Given the description of an element on the screen output the (x, y) to click on. 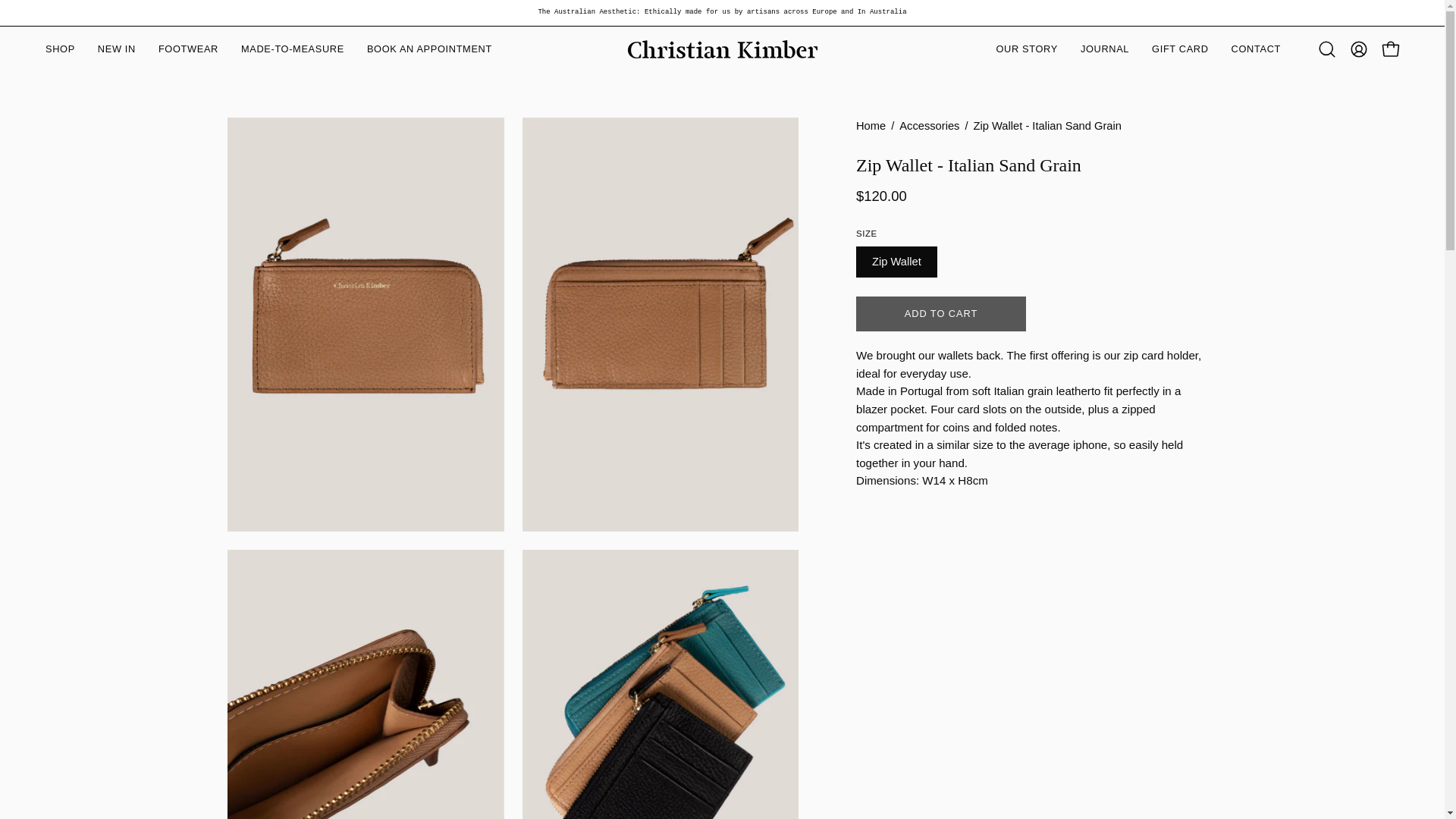
Open search bar (1326, 49)
Go back to Home page (870, 125)
View CHRISTIAN KIMBER on Instagram (238, 748)
